Given the description of an element on the screen output the (x, y) to click on. 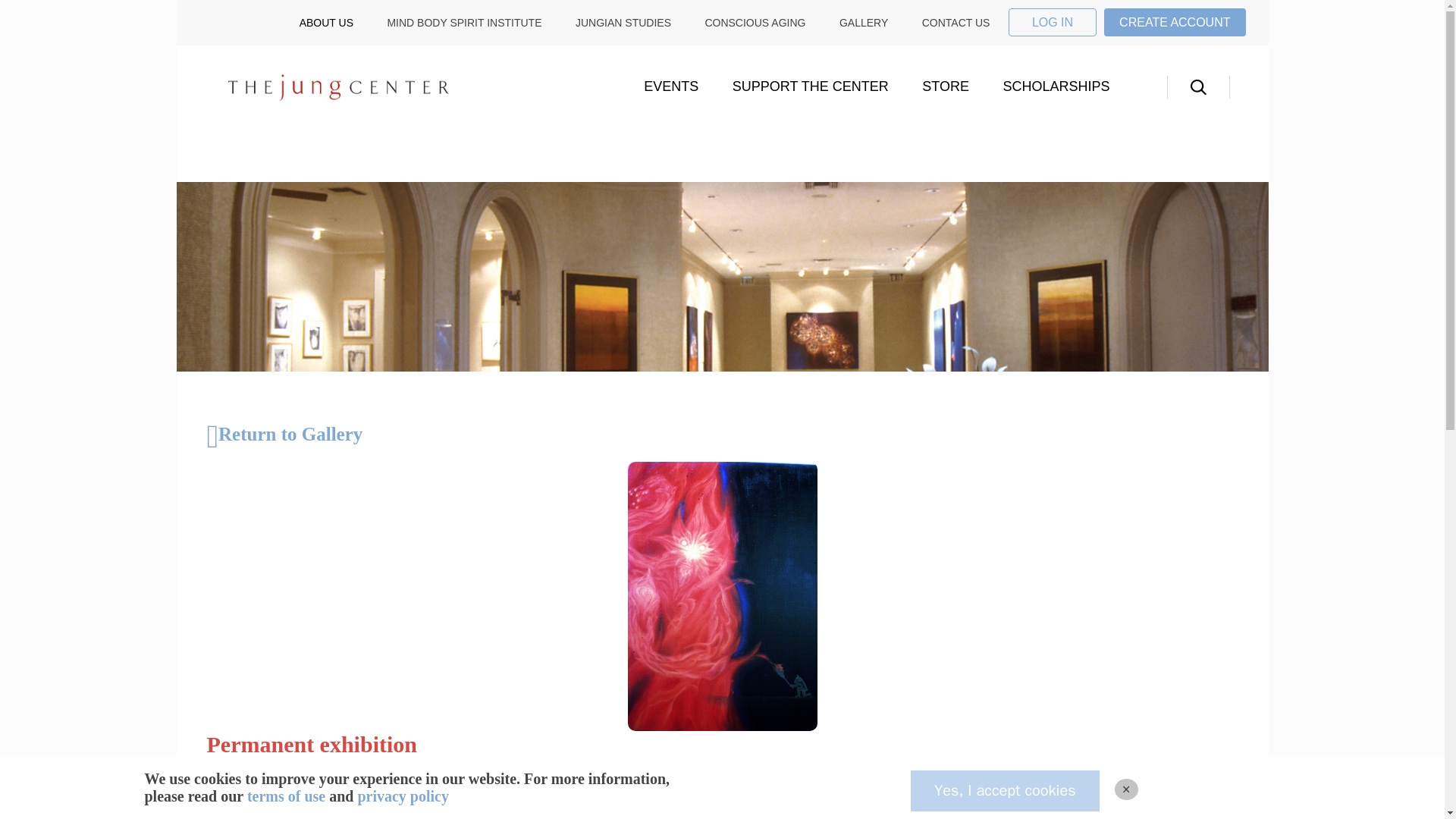
The Jung Center of Houston, Texas (337, 87)
GALLERY (864, 22)
JUNGIAN STUDIES (623, 22)
The Jung Center (319, 86)
My account (1052, 22)
SCHOLARSHIPS (1056, 86)
MIND BODY SPIRIT INSTITUTE (464, 22)
CONSCIOUS AGING (754, 22)
EVENTS (670, 86)
LOG IN (1052, 22)
